Given the description of an element on the screen output the (x, y) to click on. 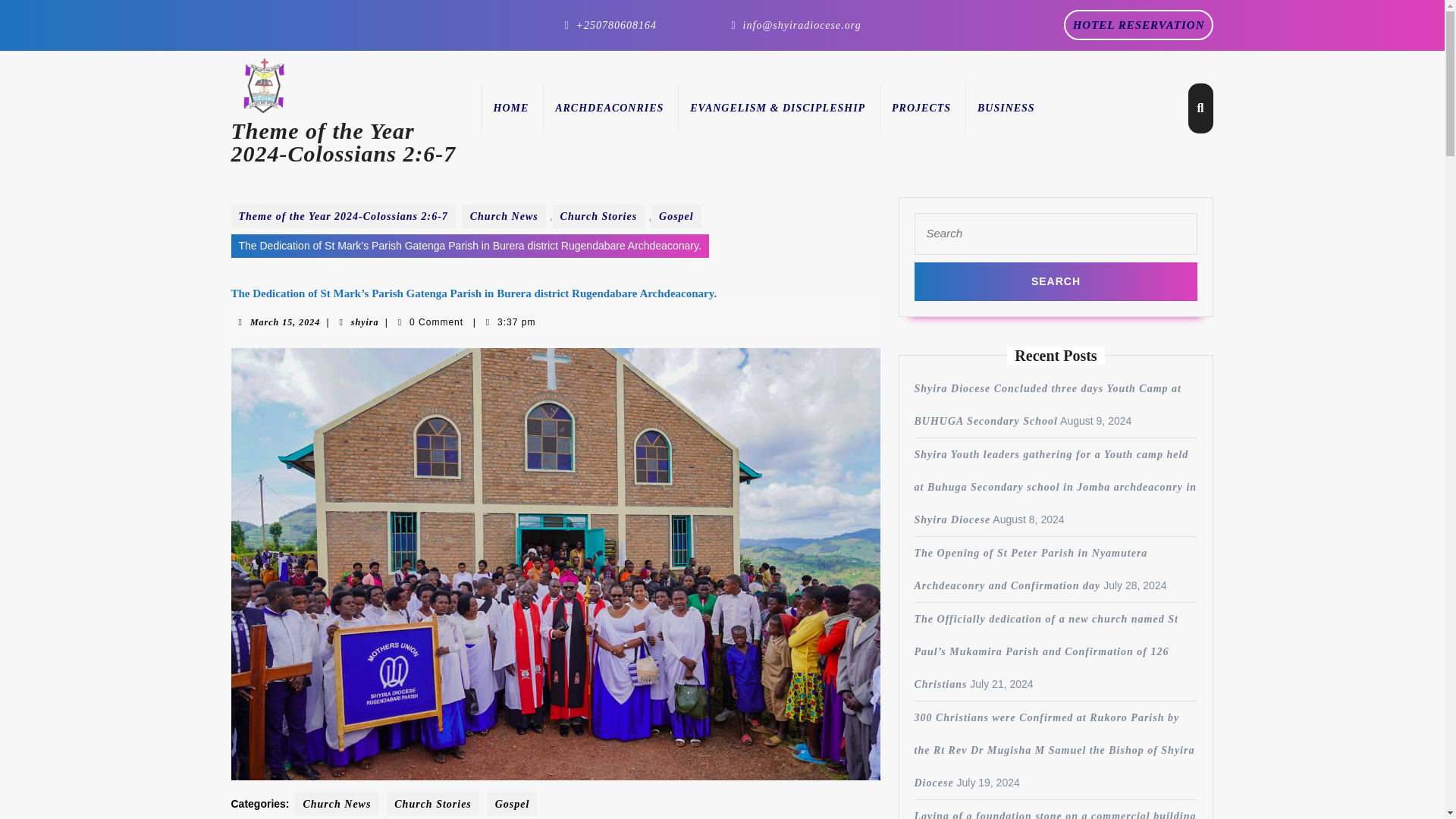
Search (1056, 281)
HOME (510, 107)
PROJECTS (1139, 24)
ARCHDEACONRIES (920, 107)
BUSINESS (609, 107)
Search (1005, 107)
Theme of the Year 2024-Colossians 2:6-7 (1056, 281)
